Given the description of an element on the screen output the (x, y) to click on. 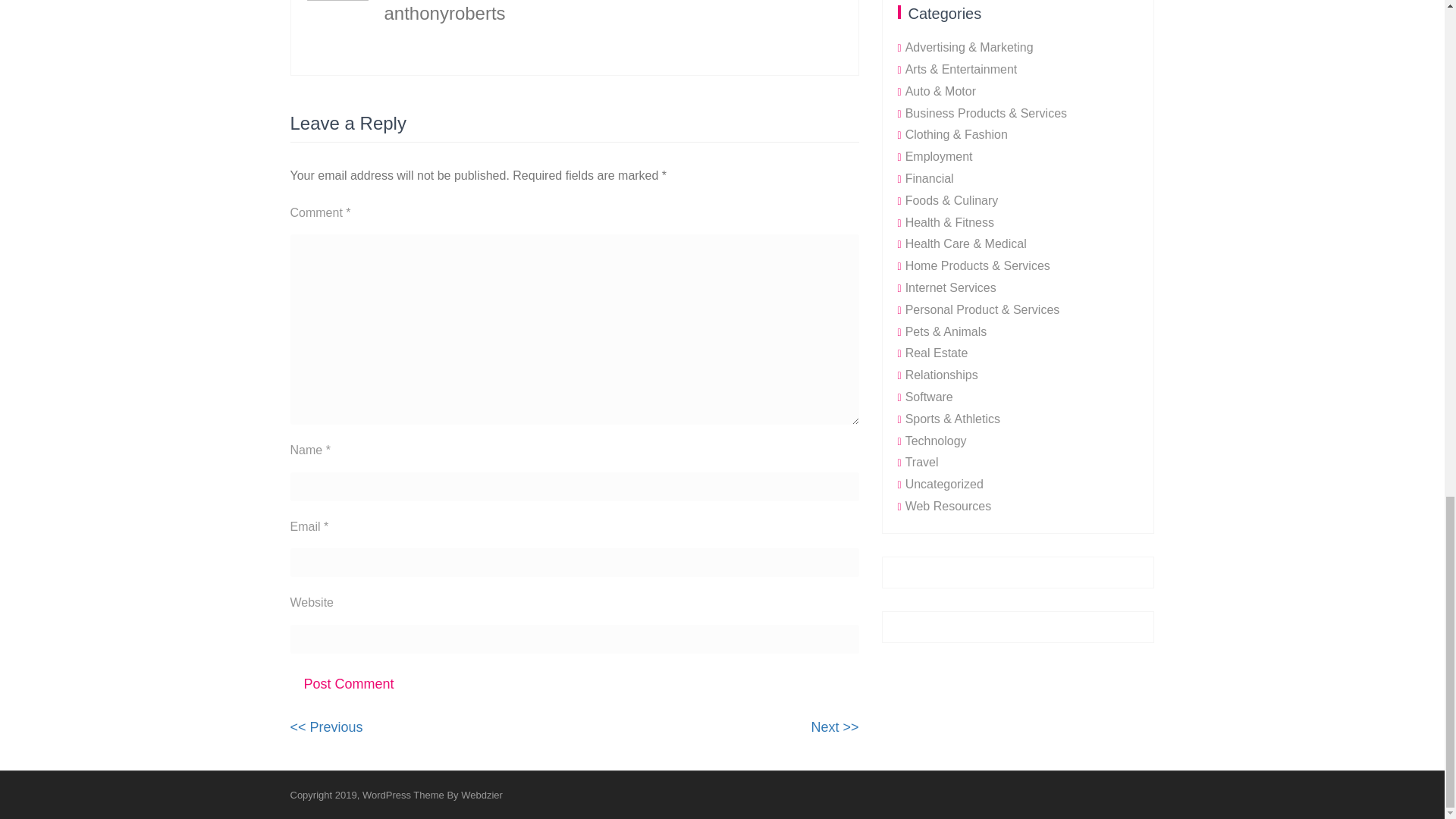
Post Comment (834, 726)
Post Comment (348, 684)
